Given the description of an element on the screen output the (x, y) to click on. 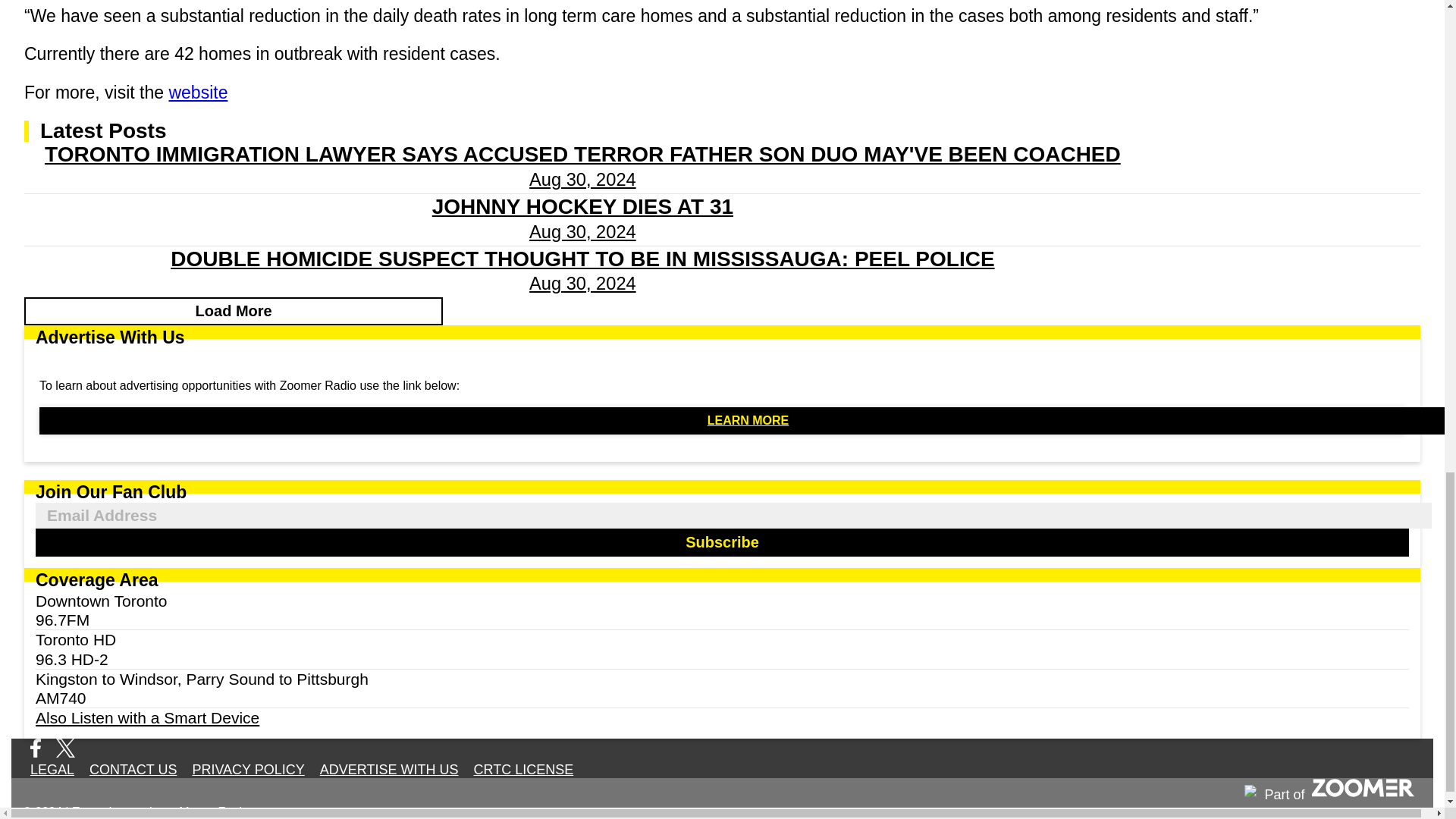
website (197, 92)
